Given the description of an element on the screen output the (x, y) to click on. 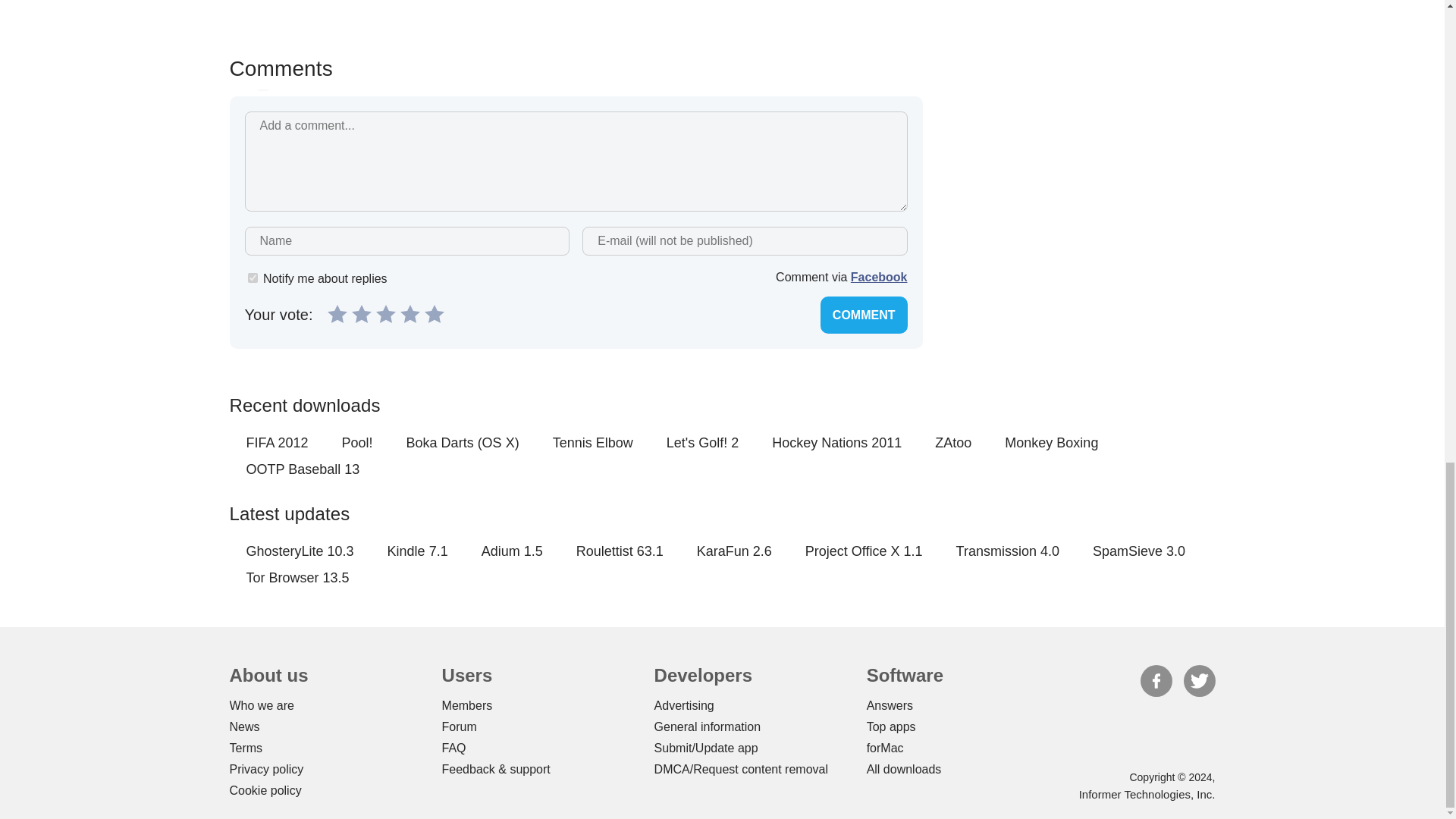
Comment (864, 314)
1 (336, 312)
4 (409, 312)
1 (252, 277)
ZAtoo (952, 442)
3 (385, 312)
Let's Golf! 2 (702, 442)
Hockey Nations 2011 (836, 442)
2 (361, 312)
Comment (864, 314)
Pool! (357, 442)
Tennis Elbow (593, 442)
FIFA 2012 (276, 442)
5 (434, 312)
